Given the description of an element on the screen output the (x, y) to click on. 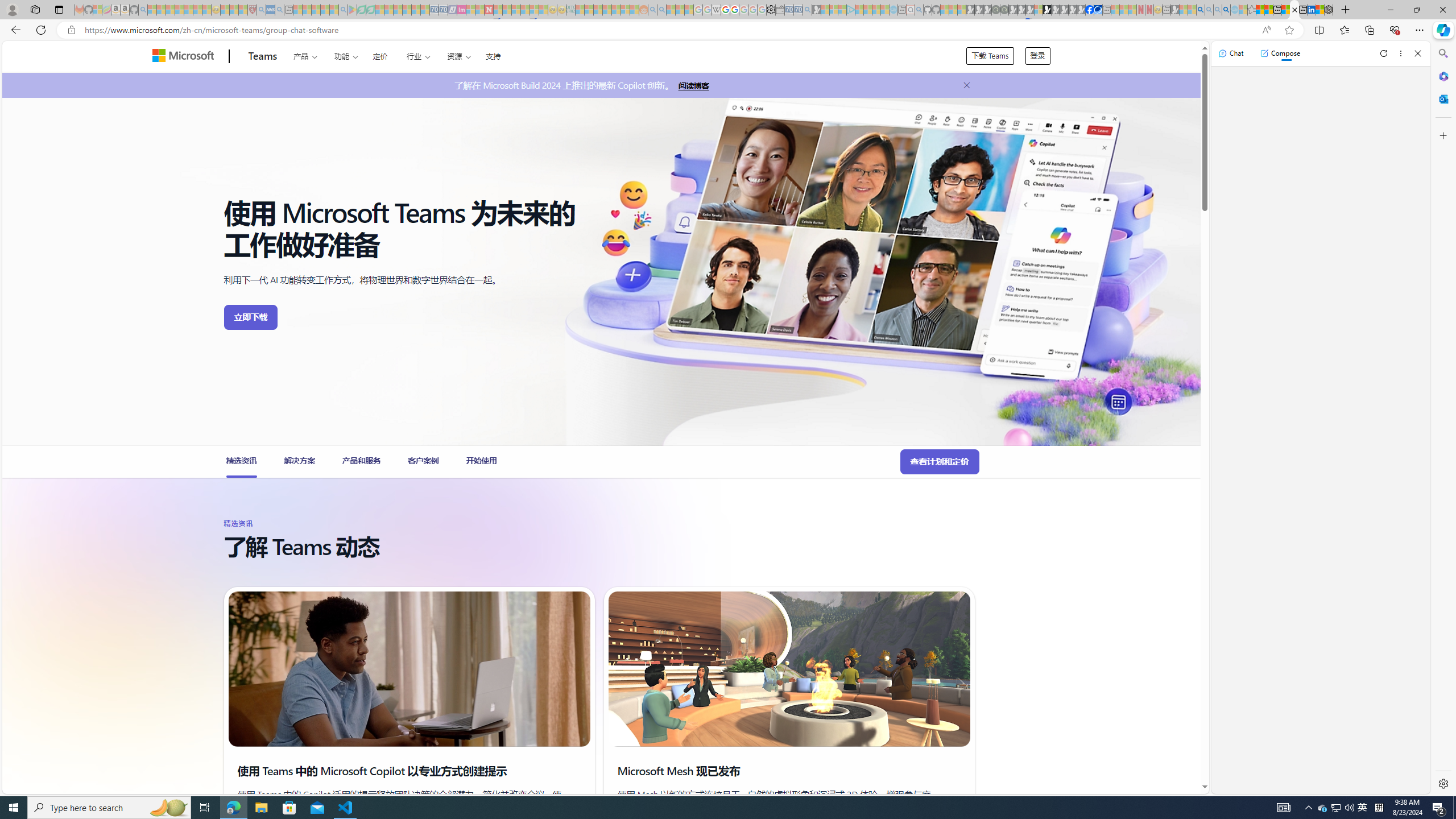
Favorites - Sleeping (1251, 9)
Wallet - Sleeping (779, 9)
AQI & Health | AirNow.gov (1098, 9)
Sign in to your account - Sleeping (1038, 9)
Bing Real Estate - Home sales and rental listings - Sleeping (806, 9)
Kinda Frugal - MSN - Sleeping (616, 9)
The Weather Channel - MSN - Sleeping (170, 9)
